Given the description of an element on the screen output the (x, y) to click on. 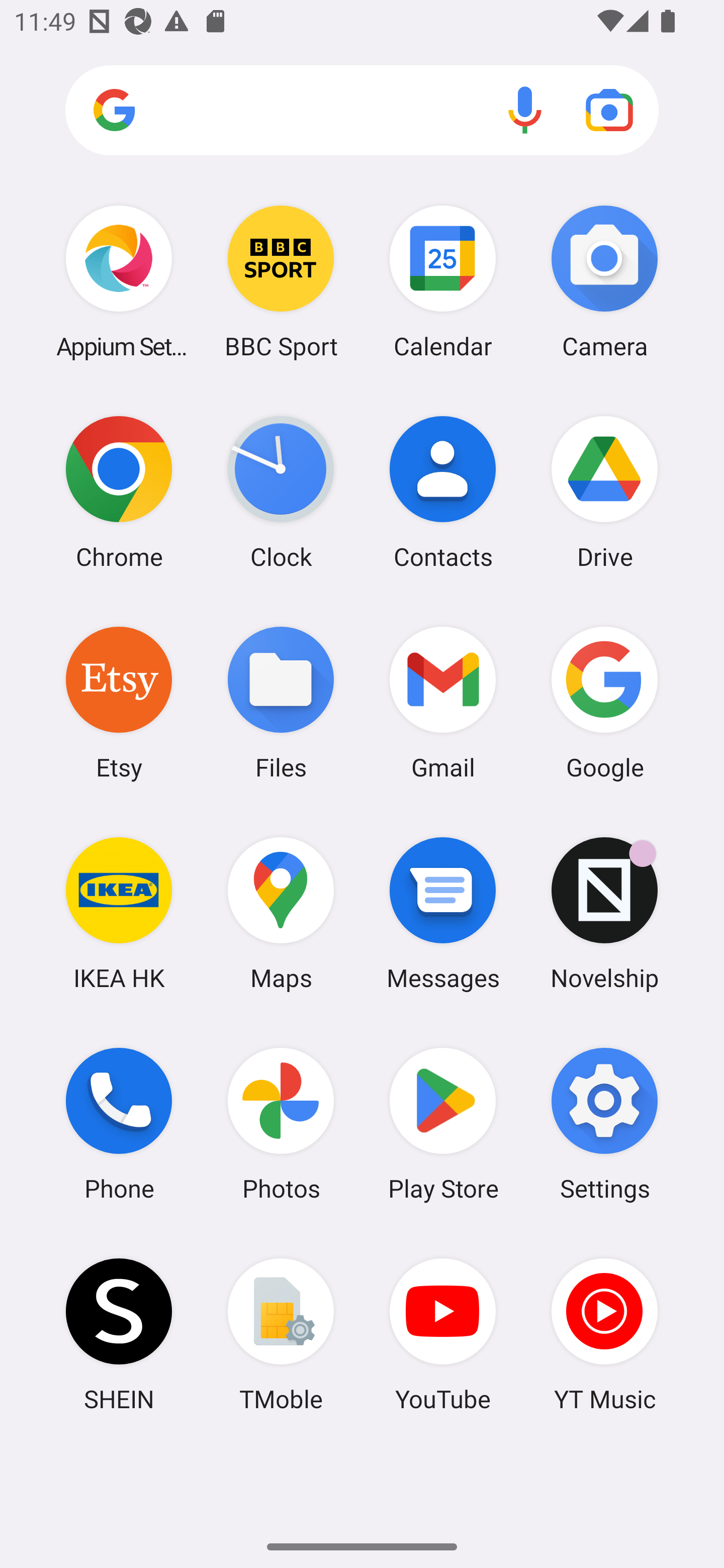
Search apps, web and more (361, 110)
Voice search (524, 109)
Google Lens (608, 109)
Appium Settings (118, 281)
BBC Sport (280, 281)
Calendar (443, 281)
Camera (604, 281)
Chrome (118, 492)
Clock (280, 492)
Contacts (443, 492)
Drive (604, 492)
Etsy (118, 702)
Files (280, 702)
Gmail (443, 702)
Google (604, 702)
IKEA HK (118, 913)
Maps (280, 913)
Messages (443, 913)
Novelship Novelship has 6 notifications (604, 913)
Phone (118, 1124)
Photos (280, 1124)
Play Store (443, 1124)
Settings (604, 1124)
SHEIN (118, 1334)
TMoble (280, 1334)
YouTube (443, 1334)
YT Music (604, 1334)
